Given the description of an element on the screen output the (x, y) to click on. 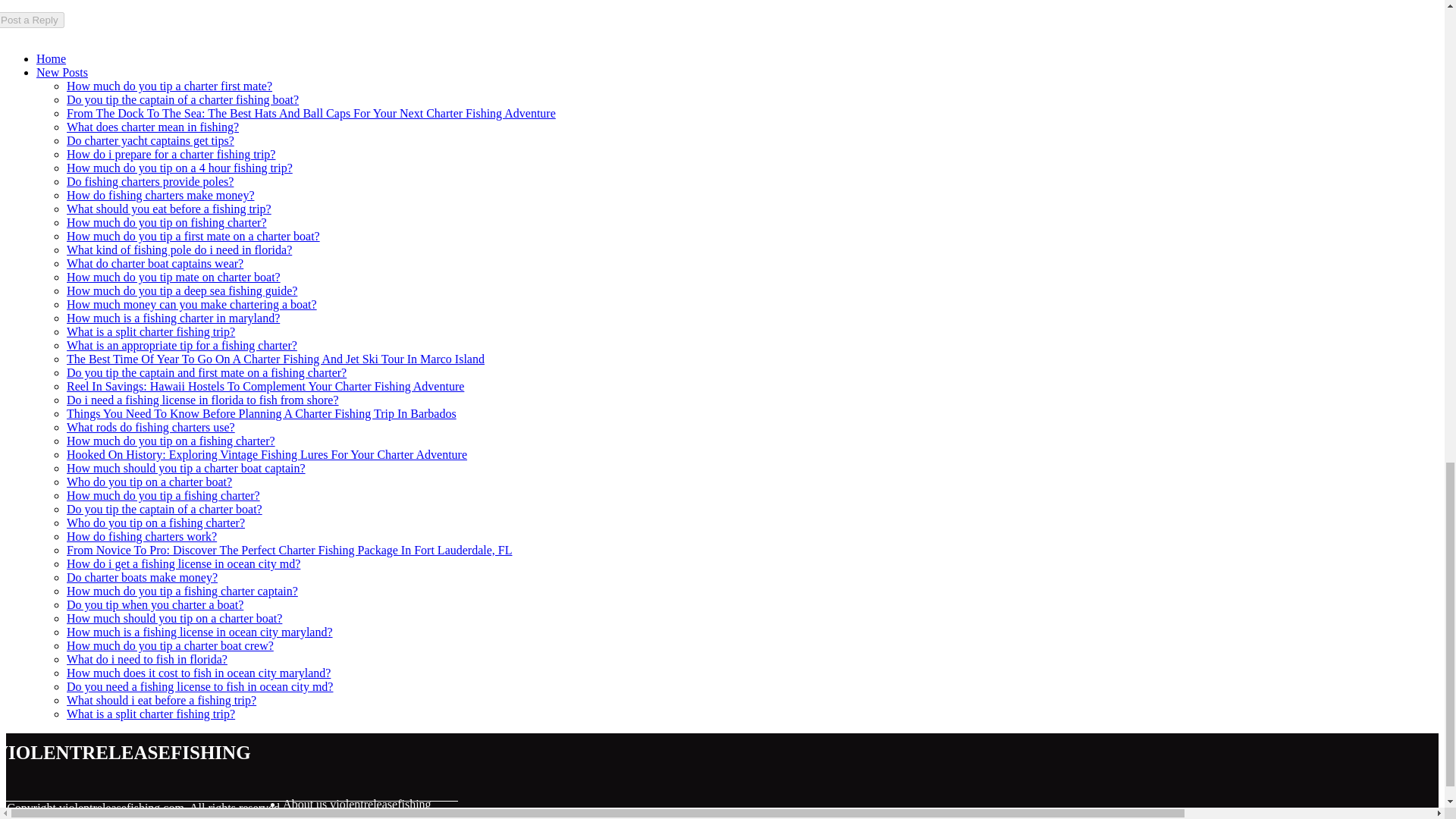
How do fishing charters make money? (159, 195)
Do charter yacht captains get tips? (150, 140)
Post a Reply (32, 19)
How much do you tip on a 4 hour fishing trip? (179, 167)
How much do you tip a charter first mate? (169, 85)
Post a Reply (32, 19)
Home (50, 58)
What should you eat before a fishing trip? (168, 208)
What does charter mean in fishing? (152, 126)
How much do you tip on fishing charter? (166, 222)
